Given the description of an element on the screen output the (x, y) to click on. 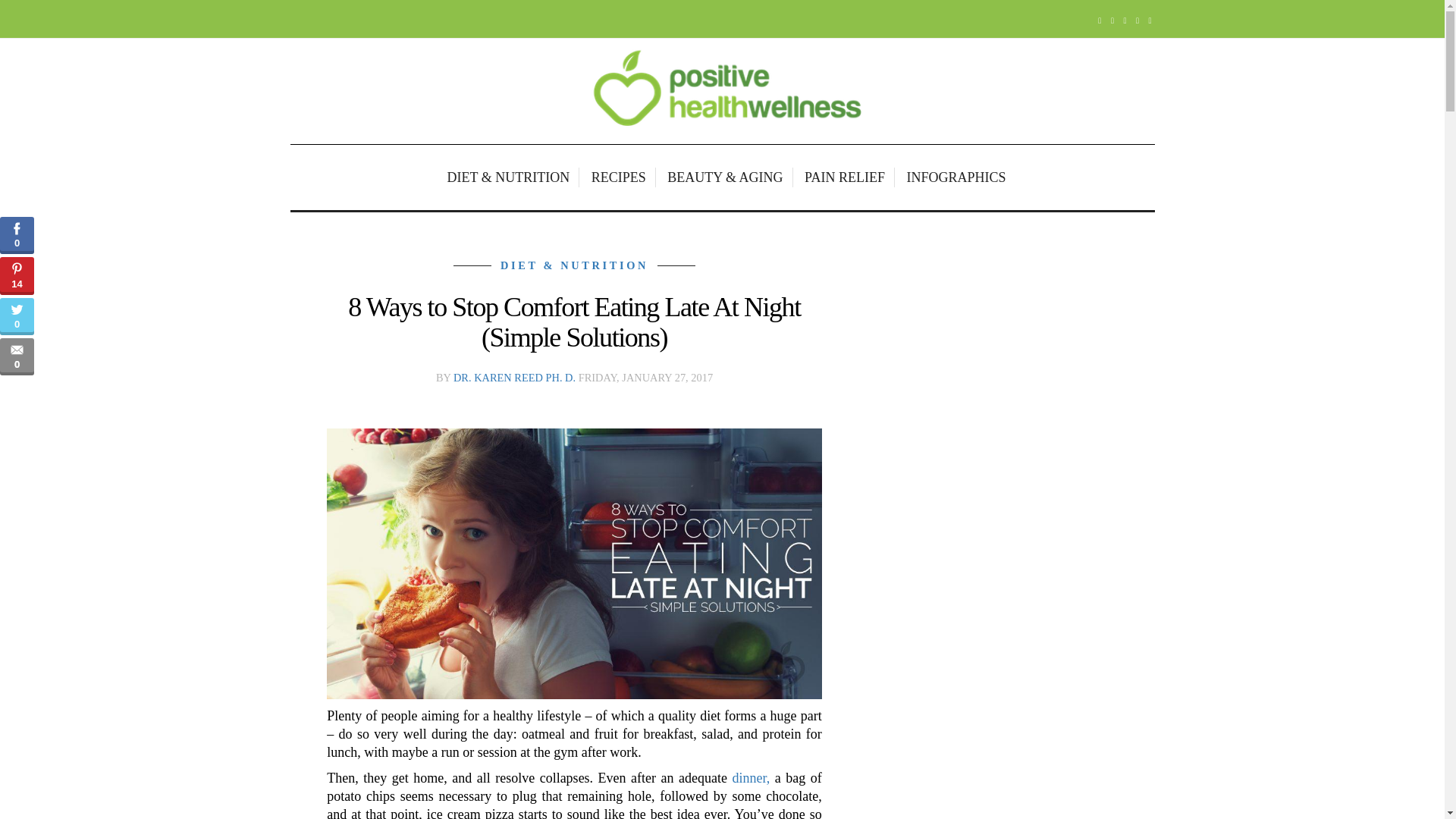
dinner, (751, 777)
DR. KAREN REED PH. D. (513, 377)
RECIPES (619, 177)
Posts by Dr. Karen Reed Ph. D. (513, 377)
INFOGRAPHICS (952, 177)
PAIN RELIEF (845, 177)
Researched and Credible Health Advice (721, 91)
